Given the description of an element on the screen output the (x, y) to click on. 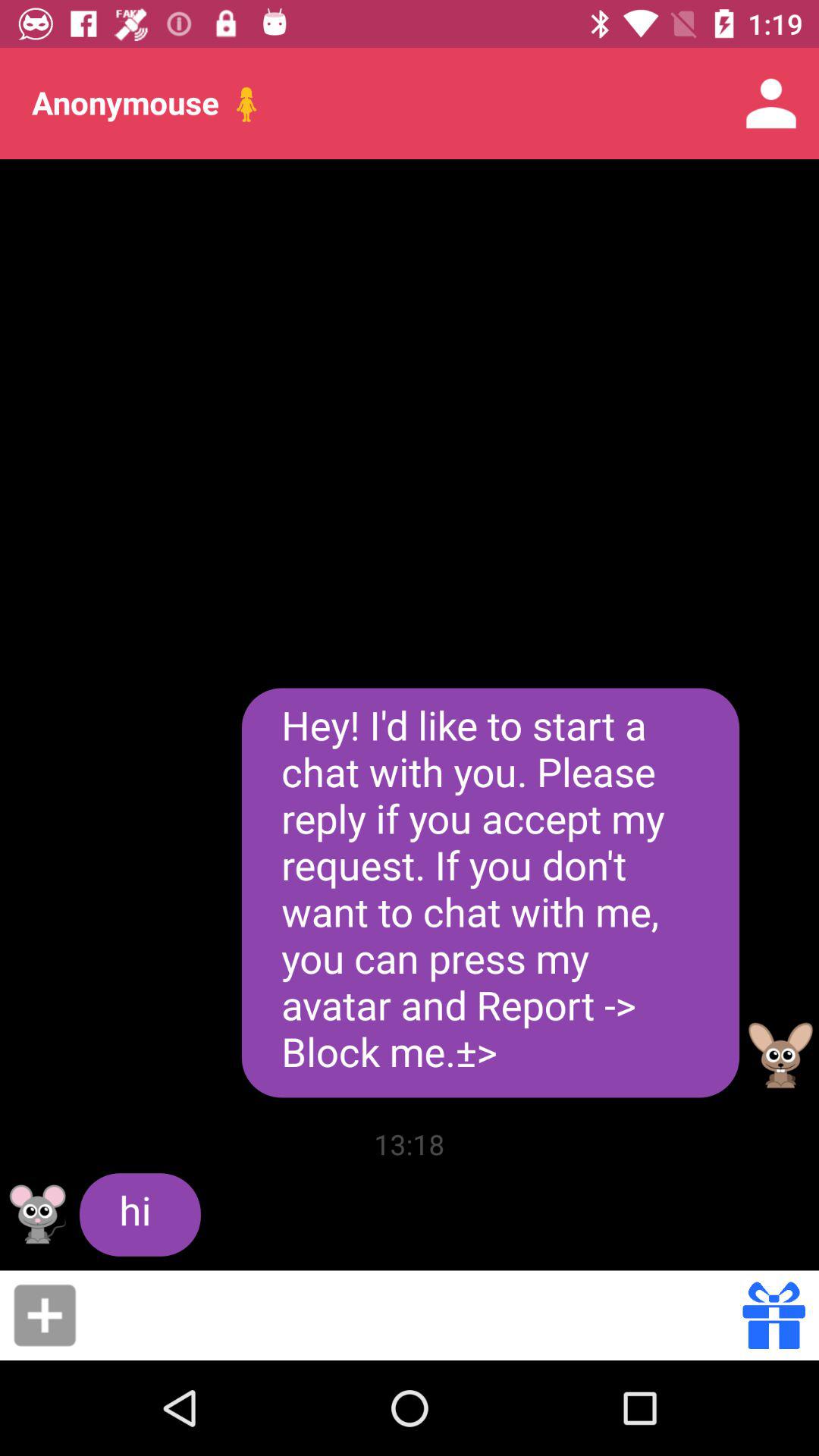
select the item below hey i d item (774, 1315)
